Given the description of an element on the screen output the (x, y) to click on. 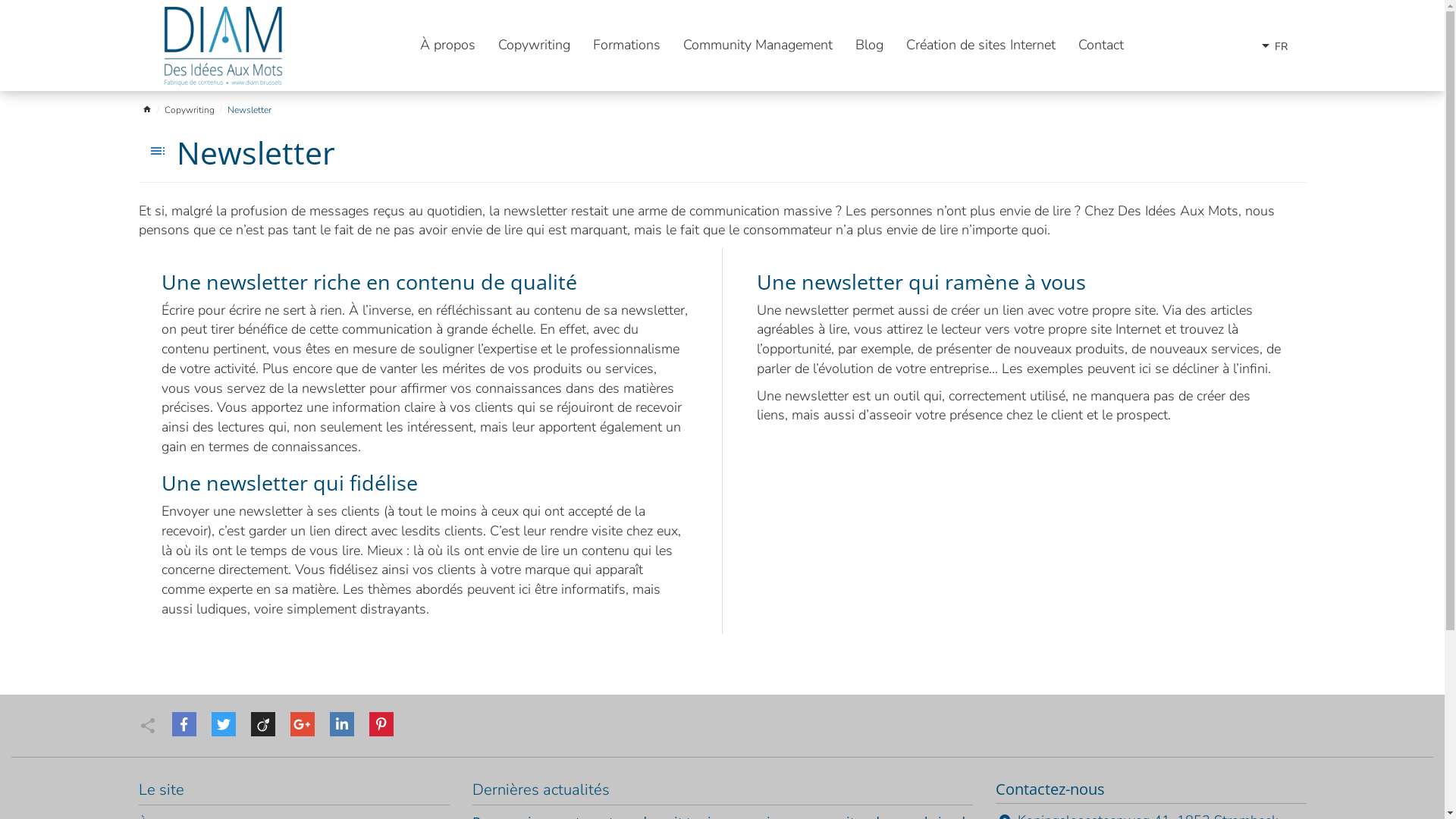
Google Element type: text (301, 724)
Formations Element type: text (626, 45)
Twitter Element type: text (222, 724)
Linkedin Element type: text (341, 724)
Copywriting Element type: text (189, 110)
home Element type: text (146, 110)
Copywriting Element type: text (533, 45)
toc Element type: text (156, 150)
Viadeo Element type: text (262, 724)
Facebook Element type: text (183, 724)
Le site Element type: text (160, 789)
Blog Element type: text (869, 45)
Contact Element type: text (1100, 45)
Pinterest Element type: text (380, 724)
Community Management Element type: text (757, 45)
arrow_drop_downFR Element type: text (1271, 45)
Passer le menu Element type: text (418, 28)
